Given the description of an element on the screen output the (x, y) to click on. 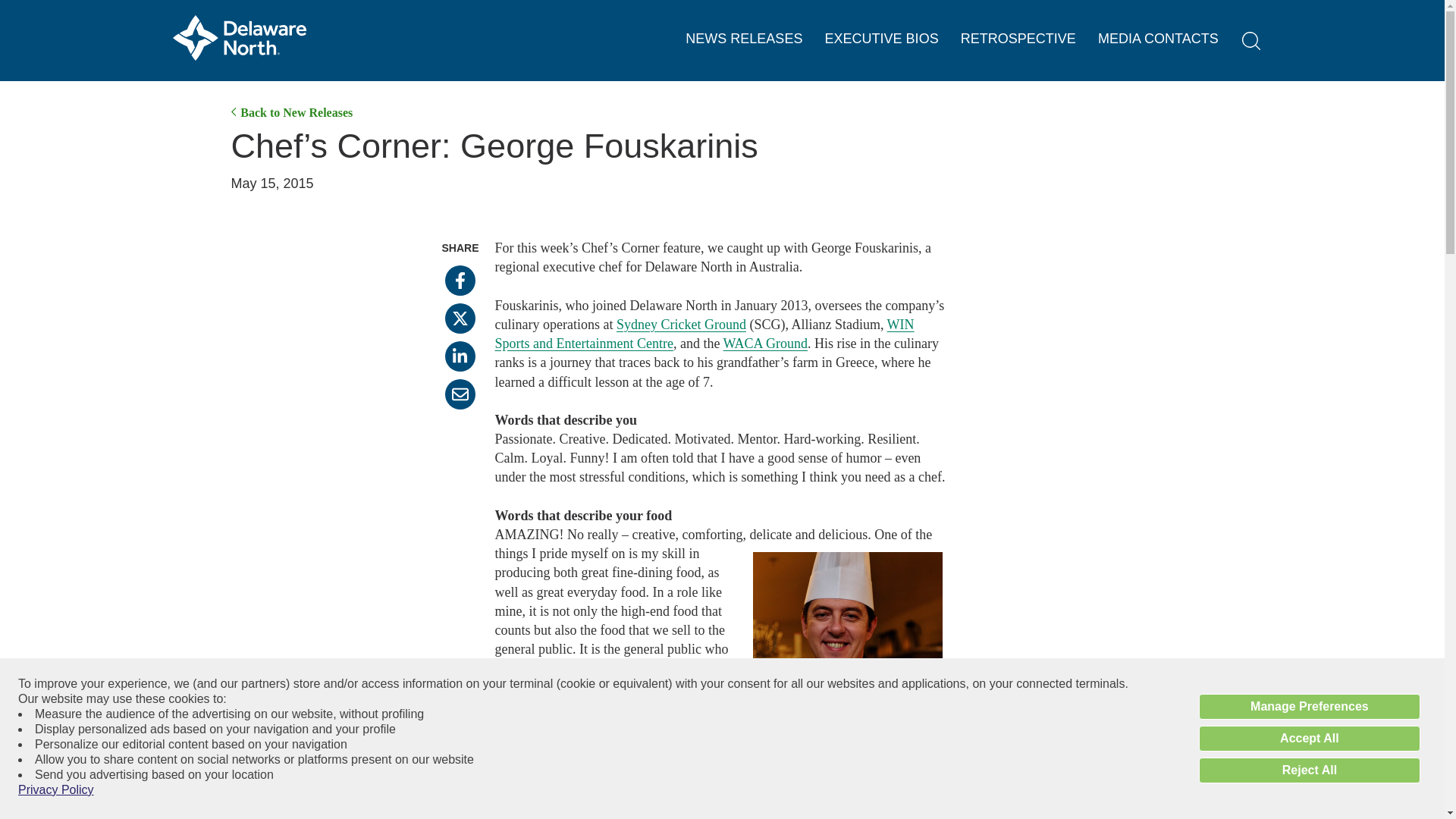
WACA Ground (765, 343)
Reject All (1309, 769)
NEWS RELEASES (743, 39)
Manage Preferences (1309, 706)
Privacy Policy (55, 789)
Sydney Cricket Ground (680, 324)
Accept All (1309, 738)
EXECUTIVE BIOS (882, 39)
Back to New Releases (291, 112)
MEDIA CONTACTS (1157, 39)
